Given the description of an element on the screen output the (x, y) to click on. 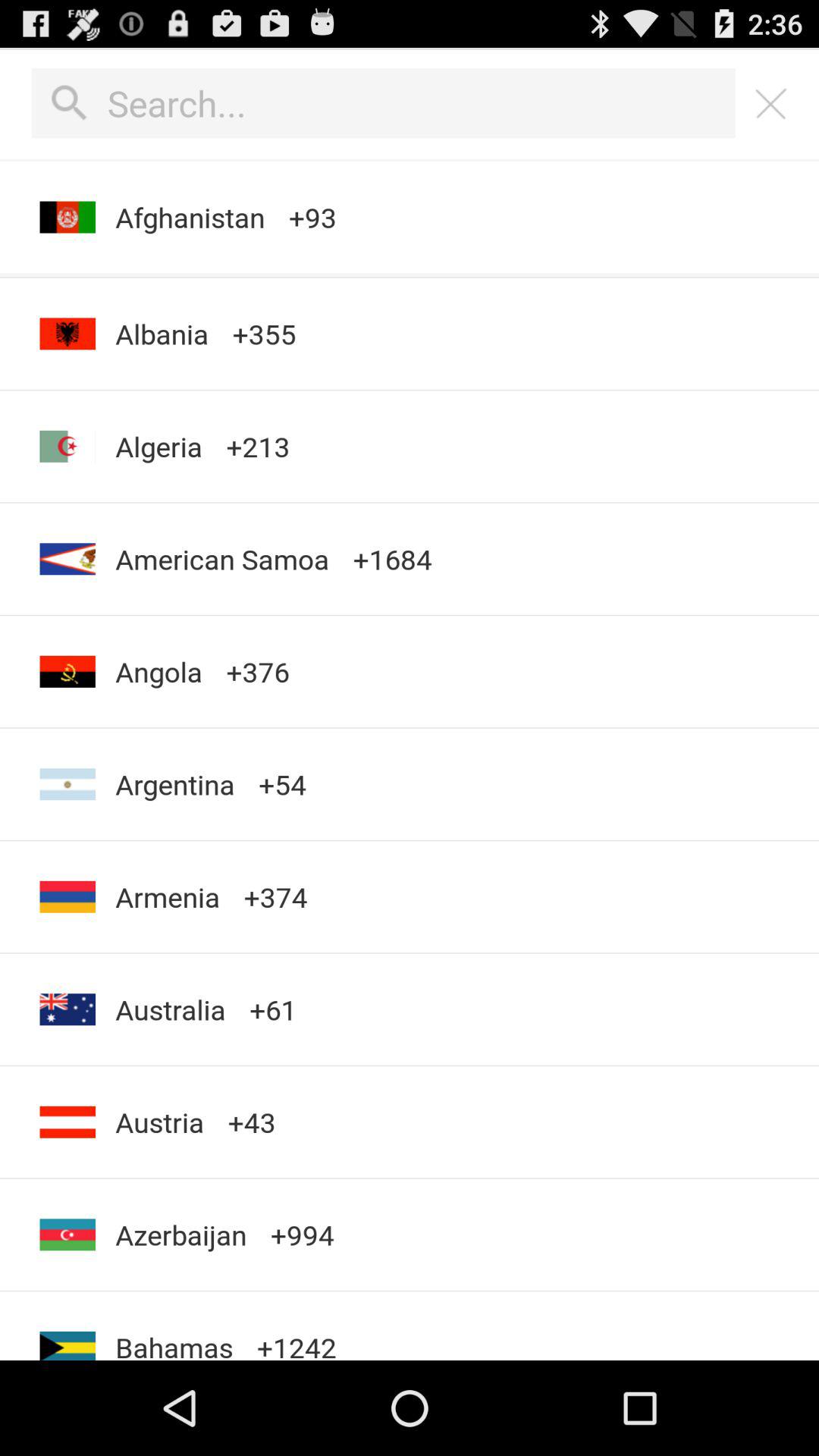
turn on icon next to the +213 app (158, 446)
